Given the description of an element on the screen output the (x, y) to click on. 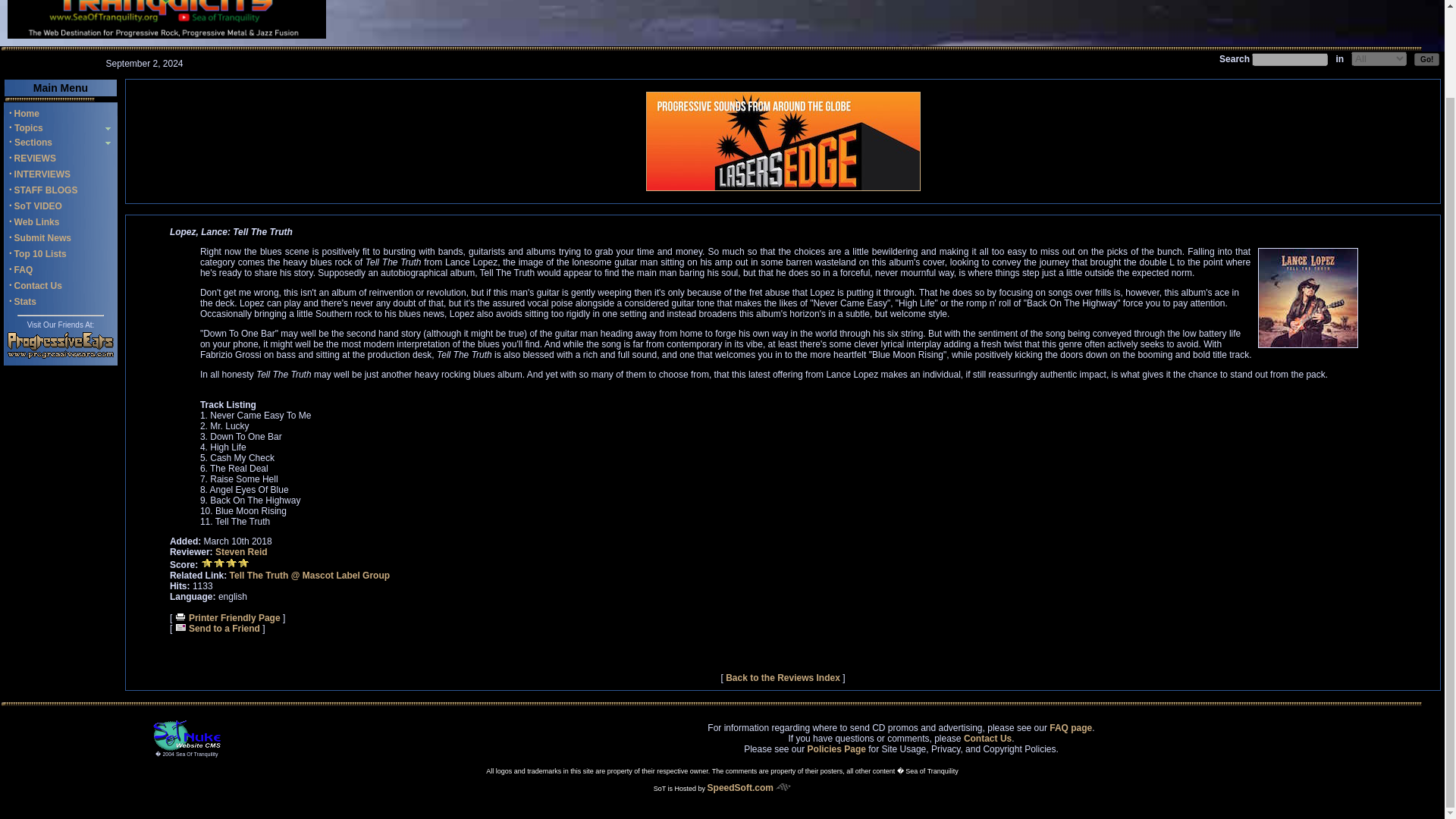
Submit News (42, 237)
SoT VIDEO (38, 205)
Back to the Reviews Index (782, 677)
STAFF BLOGS (46, 190)
Web Links (36, 222)
Printer Friendly Page (227, 617)
Top 10 Lists (40, 253)
Contact Us (987, 738)
SpeedSoft.com (749, 787)
Steven Reid (241, 552)
